Given the description of an element on the screen output the (x, y) to click on. 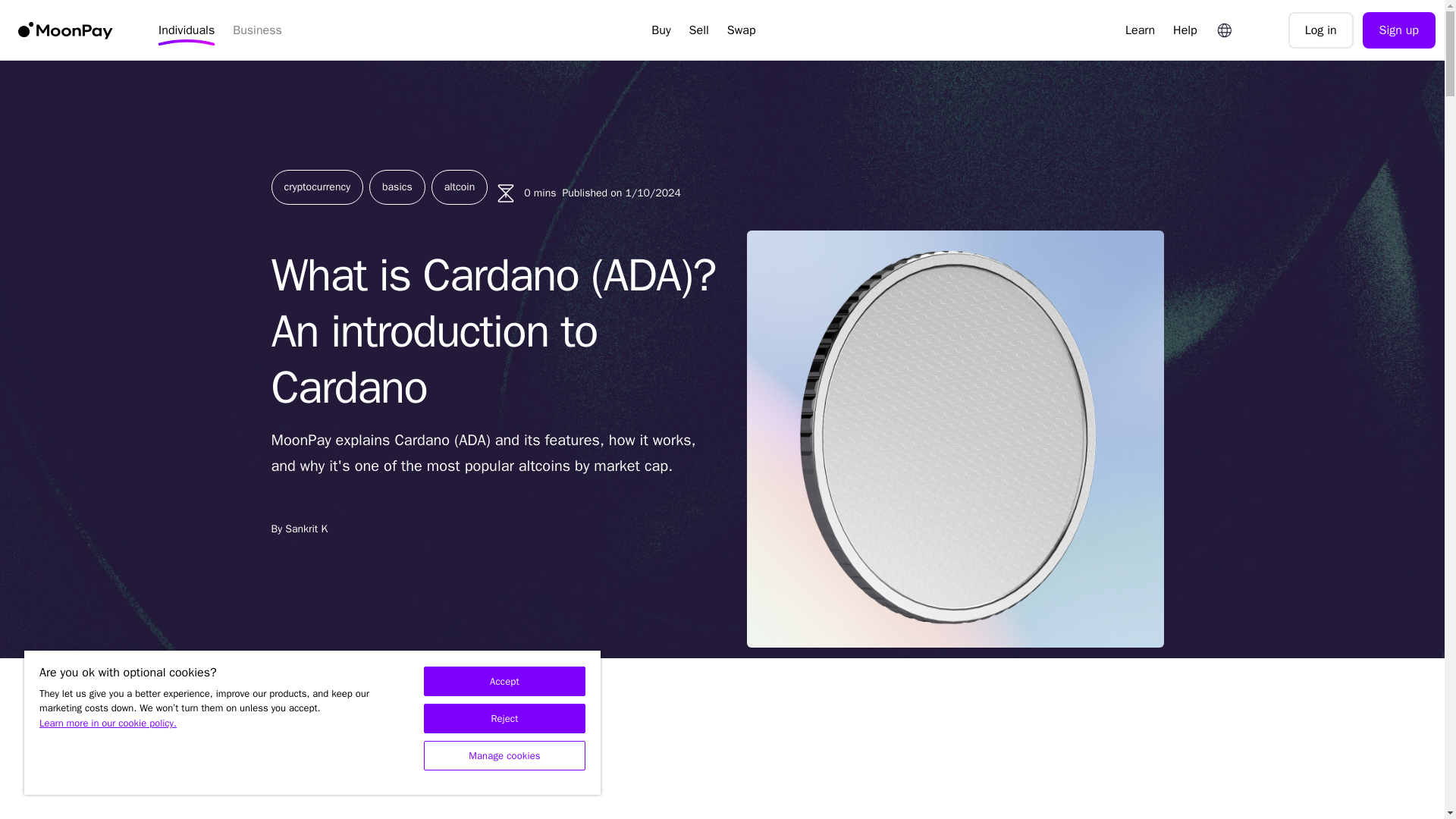
cryptocurrency (317, 186)
Individuals (186, 30)
Sell (698, 30)
Learn (1139, 30)
Help (1185, 30)
Buy (660, 30)
Sign up (1398, 30)
Log in (1321, 30)
Business (257, 30)
basics (397, 186)
Swap (741, 30)
altcoin (458, 186)
